Given the description of an element on the screen output the (x, y) to click on. 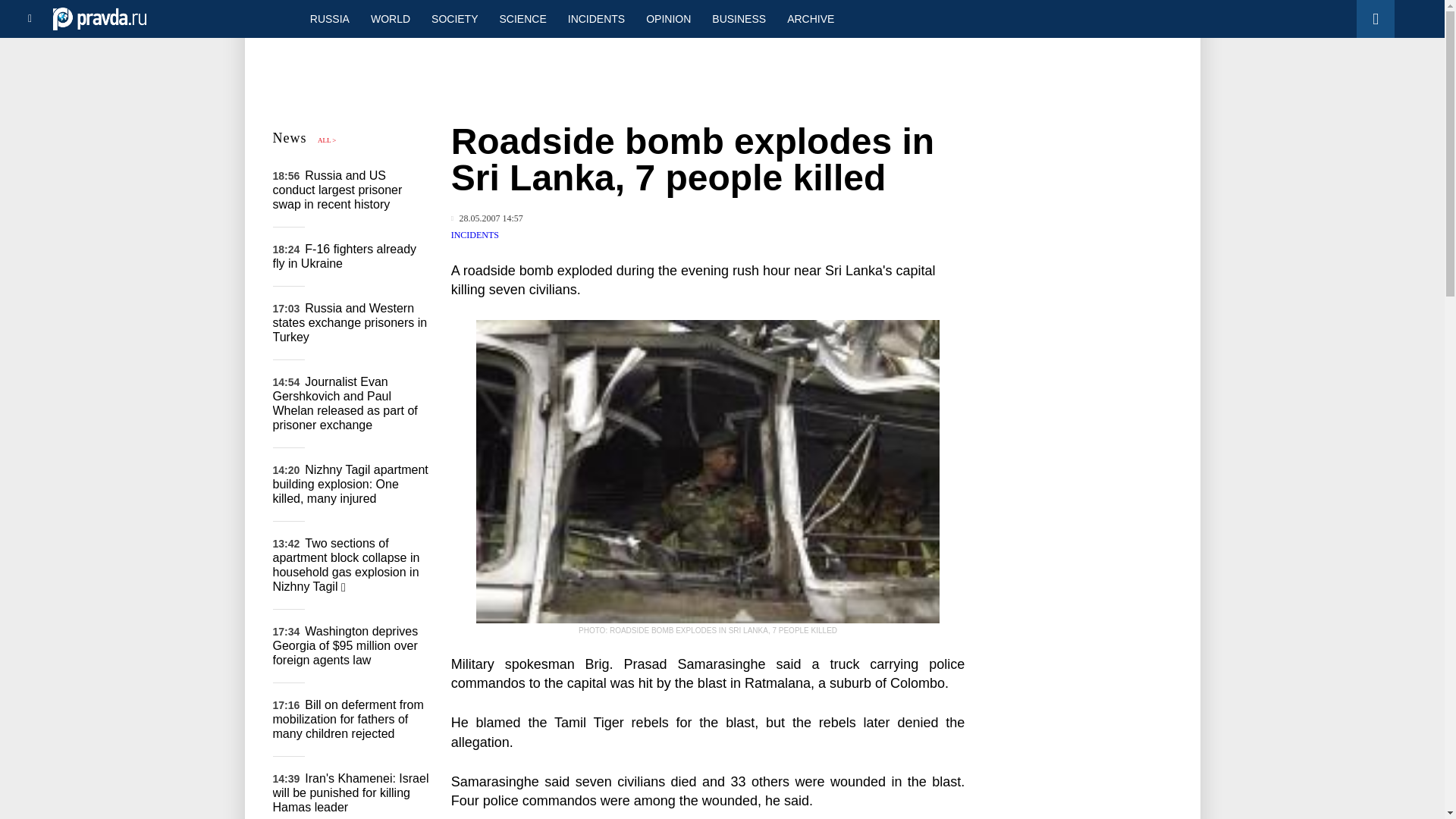
INCIDENTS (595, 18)
BUSINESS (738, 18)
Russia and Western states exchange prisoners in Turkey (350, 322)
Published (486, 218)
SCIENCE (523, 18)
F-16 fighters already fly in Ukraine (344, 256)
